Given the description of an element on the screen output the (x, y) to click on. 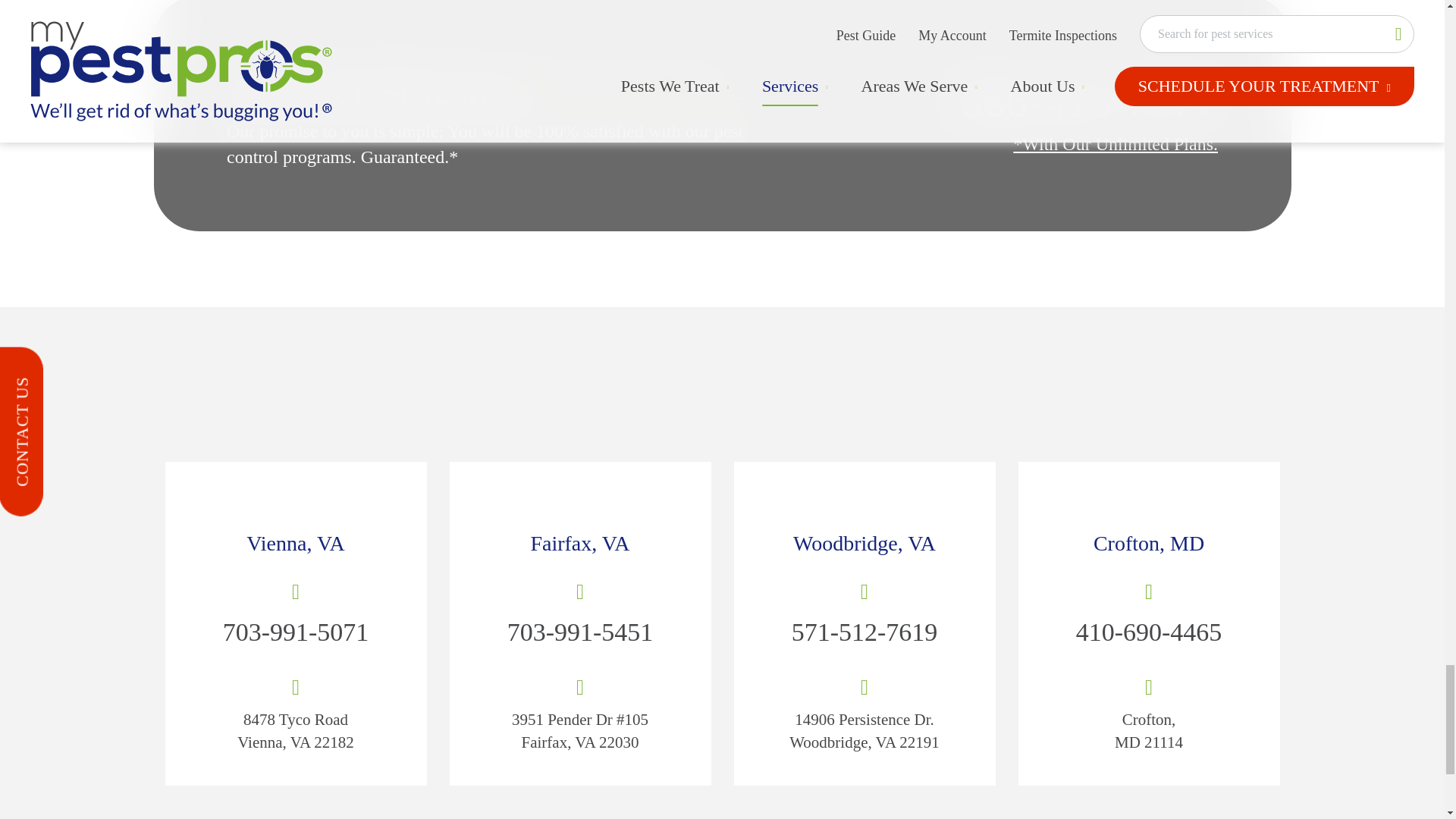
Locations (864, 501)
Locations (296, 501)
Locations (580, 501)
